Given the description of an element on the screen output the (x, y) to click on. 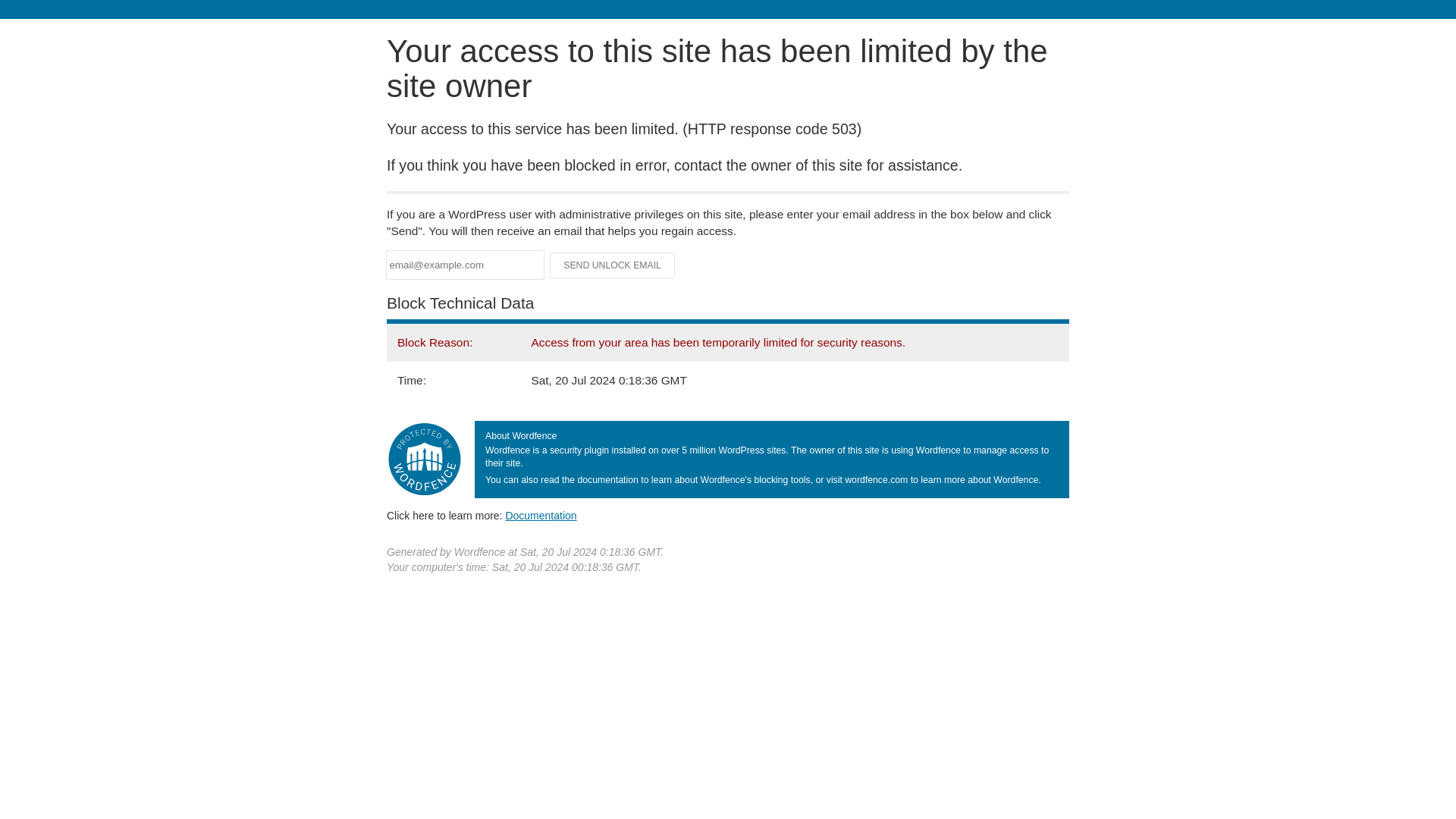
Documentation (540, 515)
Send Unlock Email (612, 265)
Send Unlock Email (612, 265)
